Given the description of an element on the screen output the (x, y) to click on. 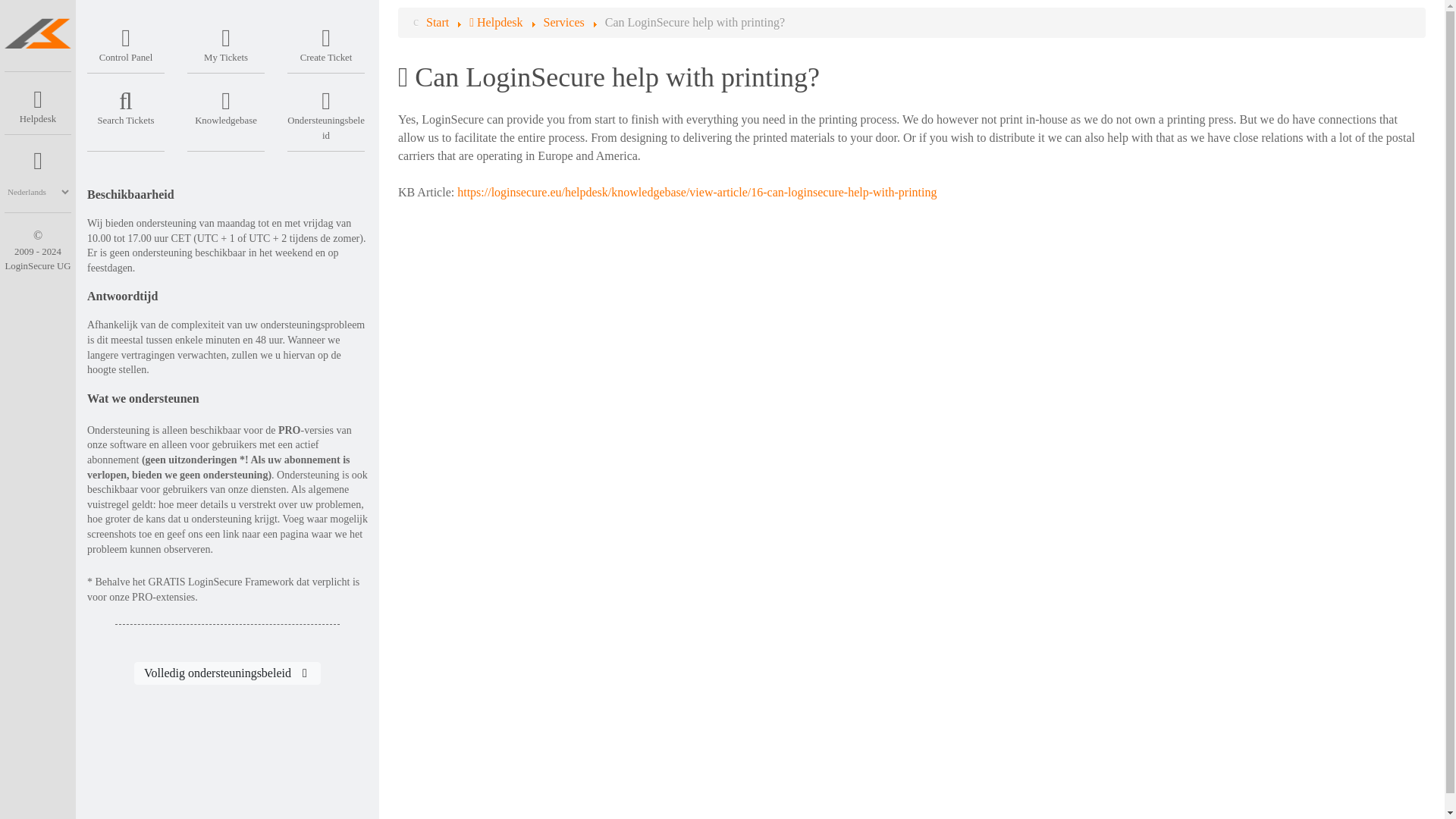
Control Panel (125, 41)
Helpdesk (37, 102)
Start (437, 21)
Knowledgebase (225, 104)
Helpdesk (496, 21)
My Tickets (225, 41)
Services (563, 21)
Create Ticket (325, 41)
Search Tickets (125, 104)
Volledig ondersteuningsbeleid (226, 672)
Ondersteuningsbeleid (325, 112)
